Given the description of an element on the screen output the (x, y) to click on. 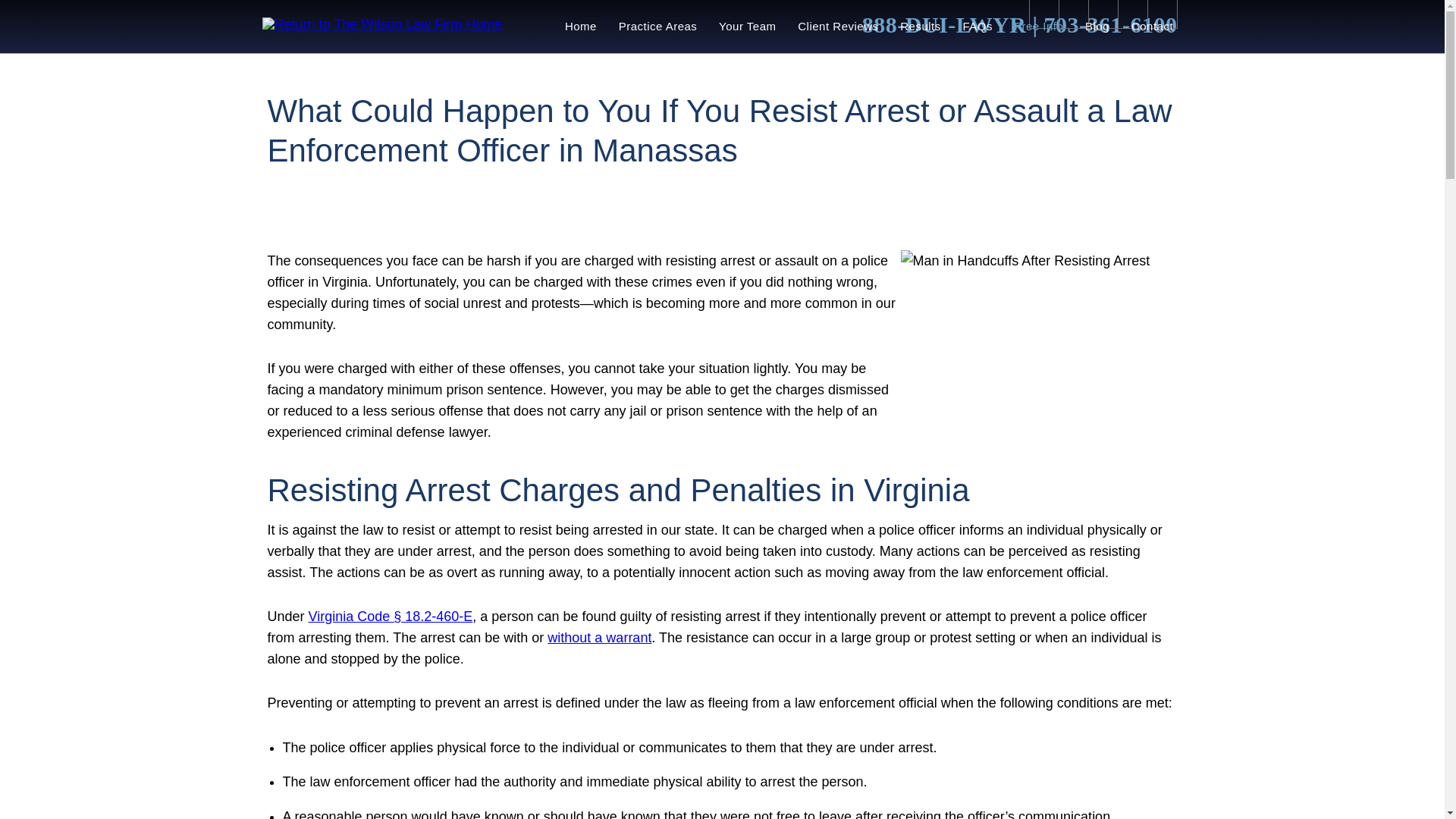
Client Reviews (838, 26)
Results (920, 26)
Practice Areas (657, 26)
Your Team (747, 26)
Contact (1151, 26)
FAQs (977, 26)
Free Info (1038, 26)
without a warrant (598, 637)
Home (580, 26)
